Given the description of an element on the screen output the (x, y) to click on. 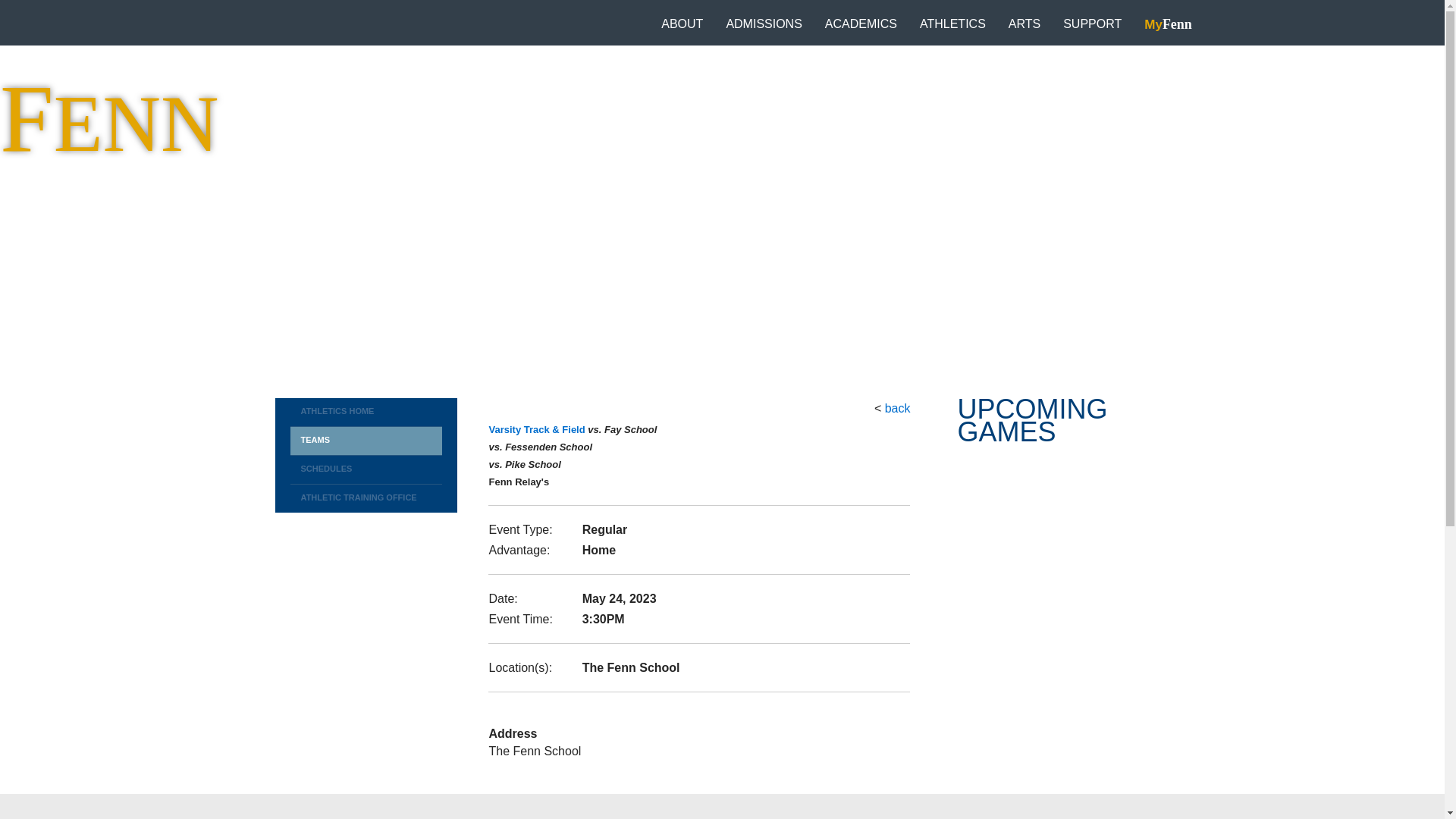
ABOUT (681, 23)
TEAMS (365, 440)
ACADEMICS (860, 23)
ADMISSIONS (763, 23)
FENN (109, 119)
ATHLETICS (952, 23)
SUPPORT (1091, 23)
ATHLETICS HOME (365, 412)
ARTS (1024, 23)
back (898, 408)
SCHEDULES (365, 469)
ATHLETIC TRAINING OFFICE (365, 498)
MyFenn (1168, 24)
